Given the description of an element on the screen output the (x, y) to click on. 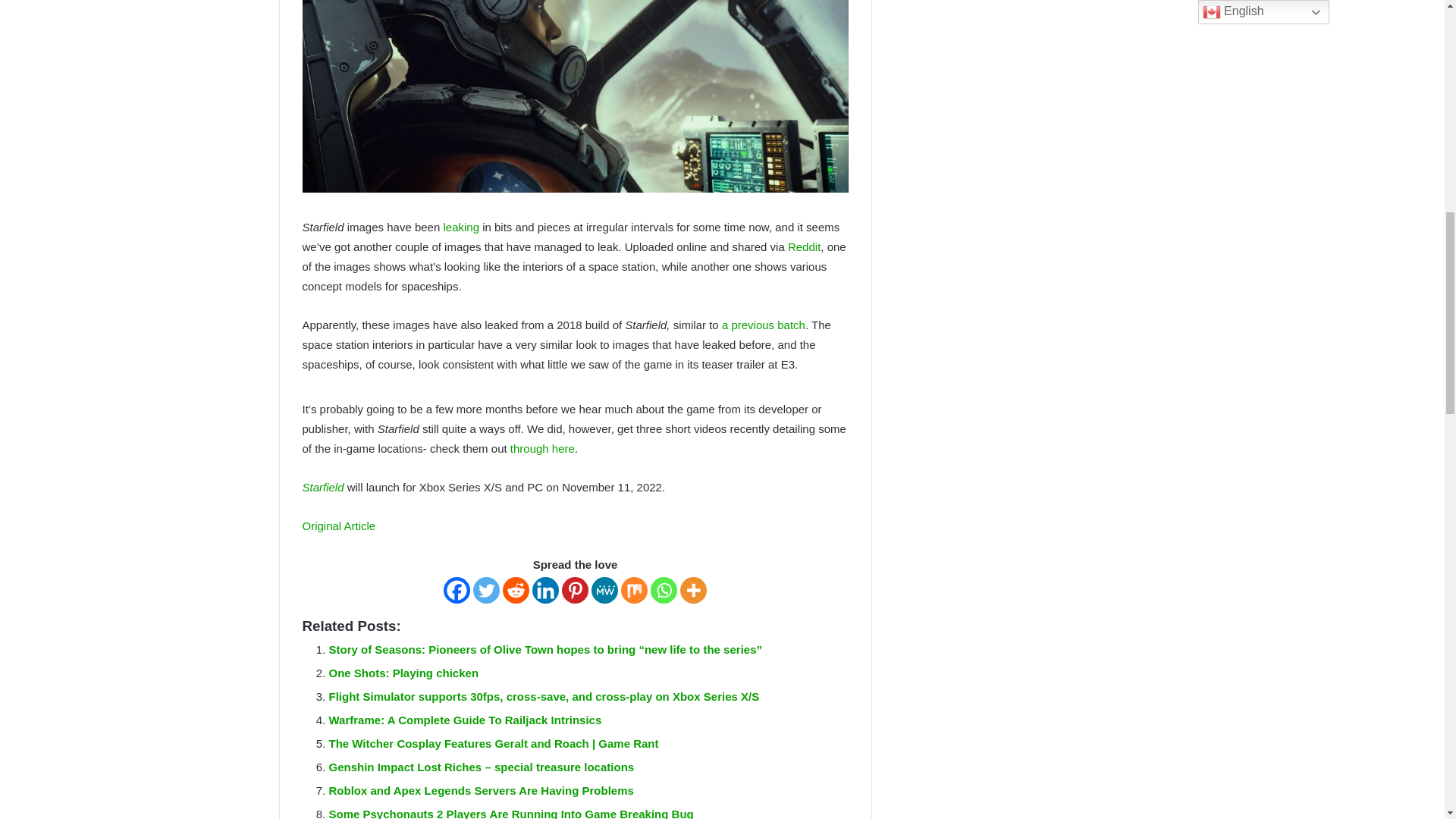
a previous batch (763, 324)
Starfield (322, 486)
MeWe (604, 590)
Reddit (804, 246)
One Shots: Playing chicken (404, 672)
through here (543, 448)
Mix (634, 590)
Linkedin (545, 590)
leaking (460, 226)
Whatsapp (663, 590)
Pinterest (575, 590)
Warframe: A Complete Guide To Railjack Intrinsics (465, 719)
Reddit (515, 590)
Facebook (457, 590)
One Shots: Playing chicken (404, 672)
